Given the description of an element on the screen output the (x, y) to click on. 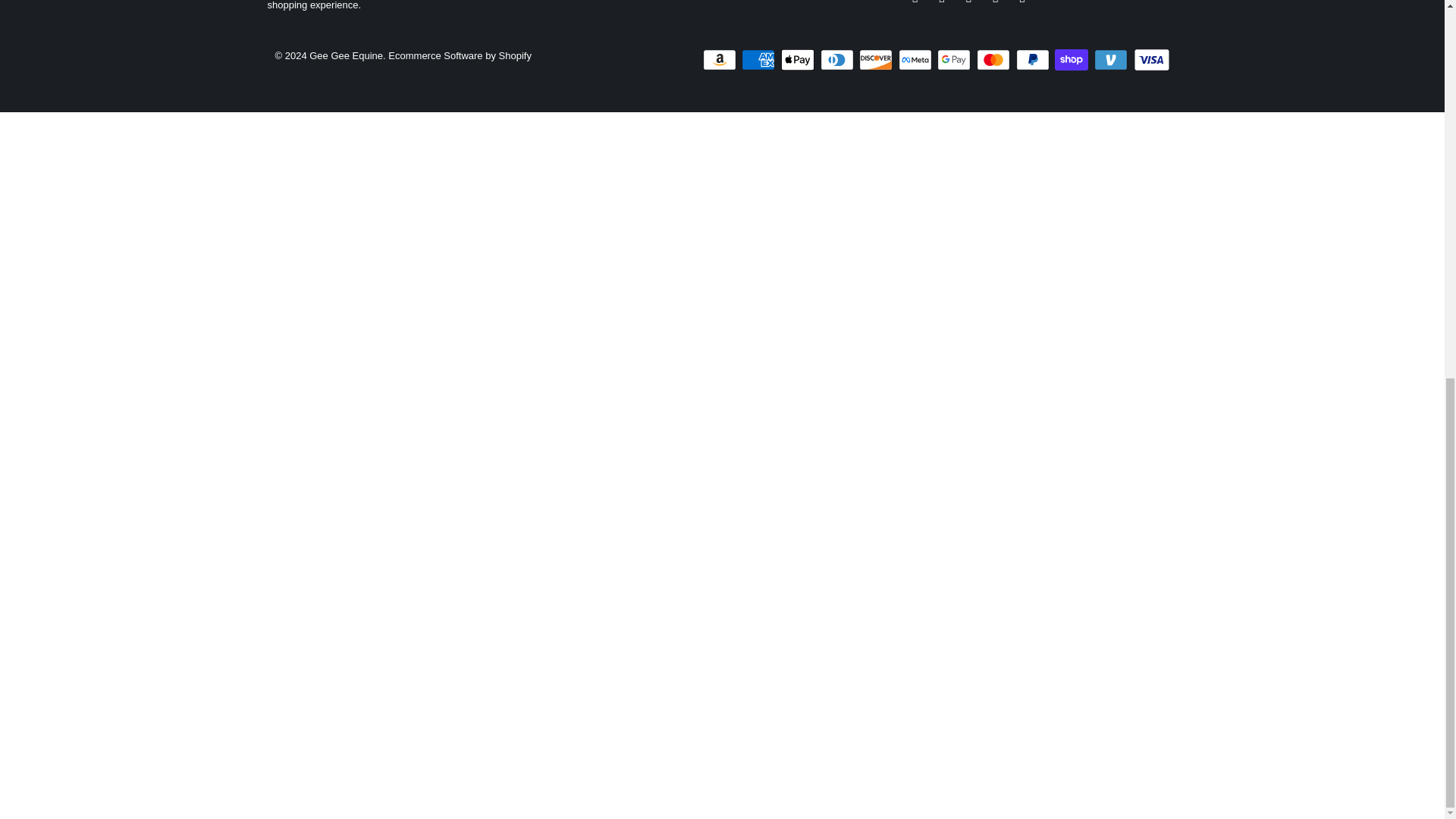
Apple Pay (798, 59)
PayPal (1034, 59)
Gee Gee Equine on Pinterest (995, 2)
Mastercard (994, 59)
American Express (759, 59)
Gee Gee Equine on Facebook (942, 2)
Visa (1150, 59)
Discover (877, 59)
Google Pay (955, 59)
Gee Gee Equine on Instagram (1022, 2)
